Given the description of an element on the screen output the (x, y) to click on. 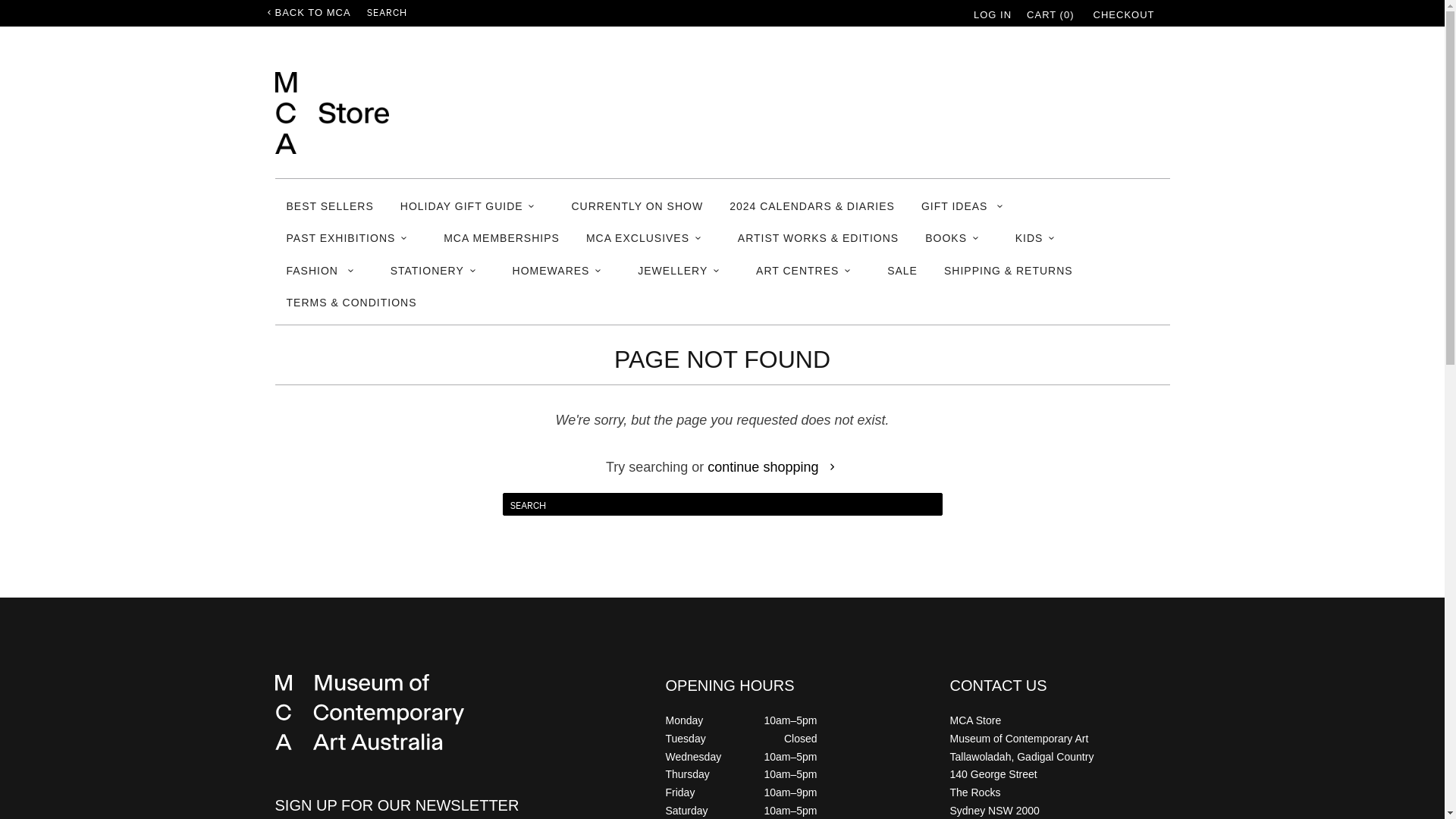
CART (0) Element type: text (1049, 14)
FASHION Element type: text (325, 270)
MCA MEMBERSHIPS Element type: text (501, 238)
continue shopping Element type: text (772, 466)
MCA EXCLUSIVES Element type: text (648, 238)
LOG IN Element type: text (992, 14)
CHECKOUT Element type: text (1123, 14)
HOLIDAY GIFT GUIDE Element type: text (472, 206)
GIFT IDEAS Element type: text (967, 206)
MCA Store Museum of Contemporary Art Element type: hover (331, 117)
SALE Element type: text (902, 270)
HOMEWARES Element type: text (561, 270)
TERMS & CONDITIONS Element type: text (351, 302)
KIDS Element type: text (1039, 238)
140 George Street
The Rocks
Sydney NSW 2000 Element type: text (993, 792)
BOOKS Element type: text (956, 238)
CURRENTLY ON SHOW Element type: text (637, 206)
SHIPPING & RETURNS Element type: text (1008, 270)
BEST SELLERS Element type: text (329, 206)
PAST EXHIBITIONS Element type: text (351, 238)
ART CENTRES Element type: text (808, 270)
BACK TO MCA Element type: text (308, 12)
JEWELLERY Element type: text (683, 270)
STATIONERY Element type: text (438, 270)
ARTIST WORKS & EDITIONS Element type: text (817, 238)
2024 CALENDARS & DIARIES Element type: text (811, 206)
